Given the description of an element on the screen output the (x, y) to click on. 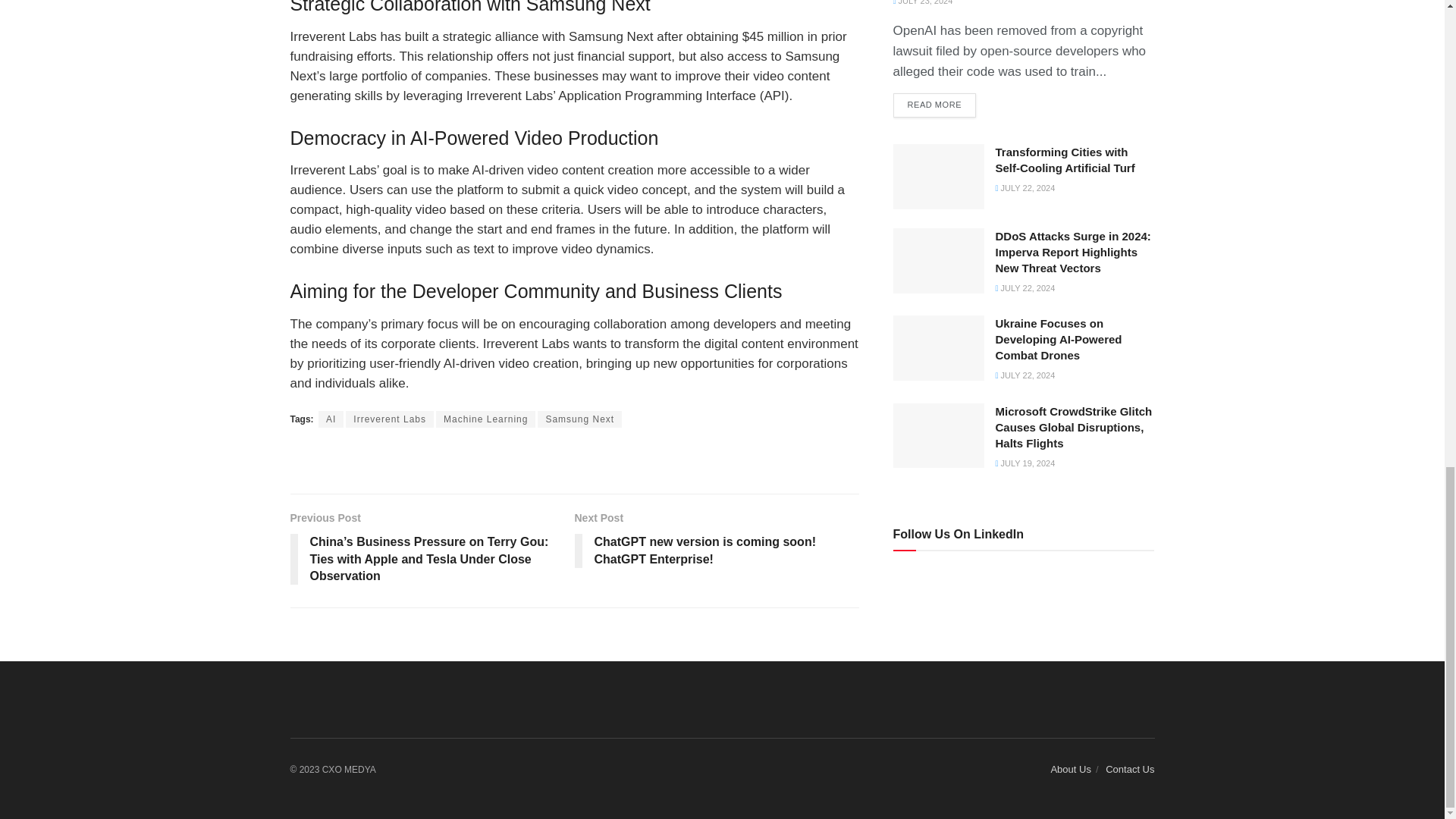
Samsung Next (579, 419)
AI (330, 419)
Irreverent Labs (389, 419)
Machine Learning (485, 419)
